Given the description of an element on the screen output the (x, y) to click on. 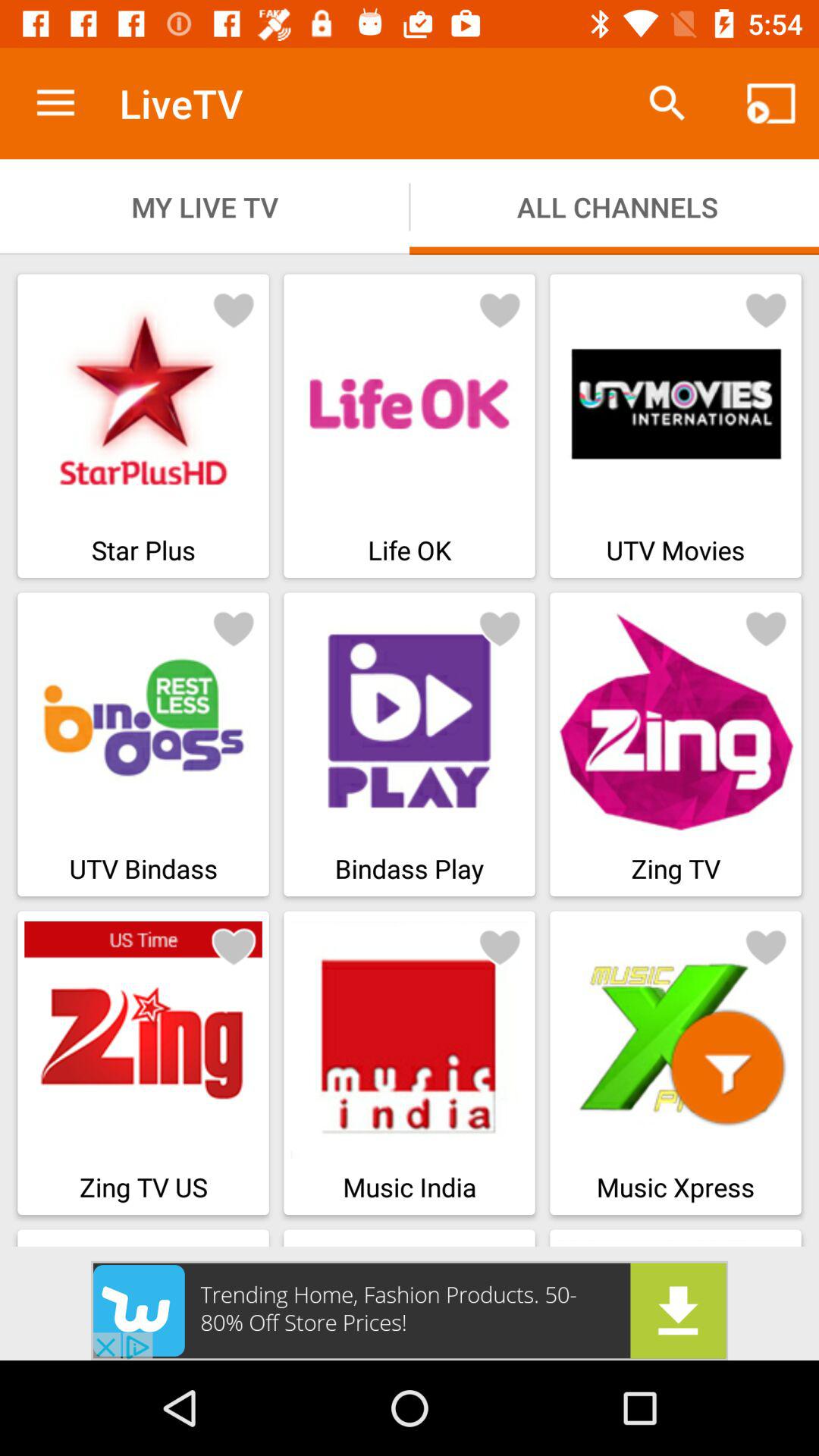
add this to favorite (766, 627)
